Given the description of an element on the screen output the (x, y) to click on. 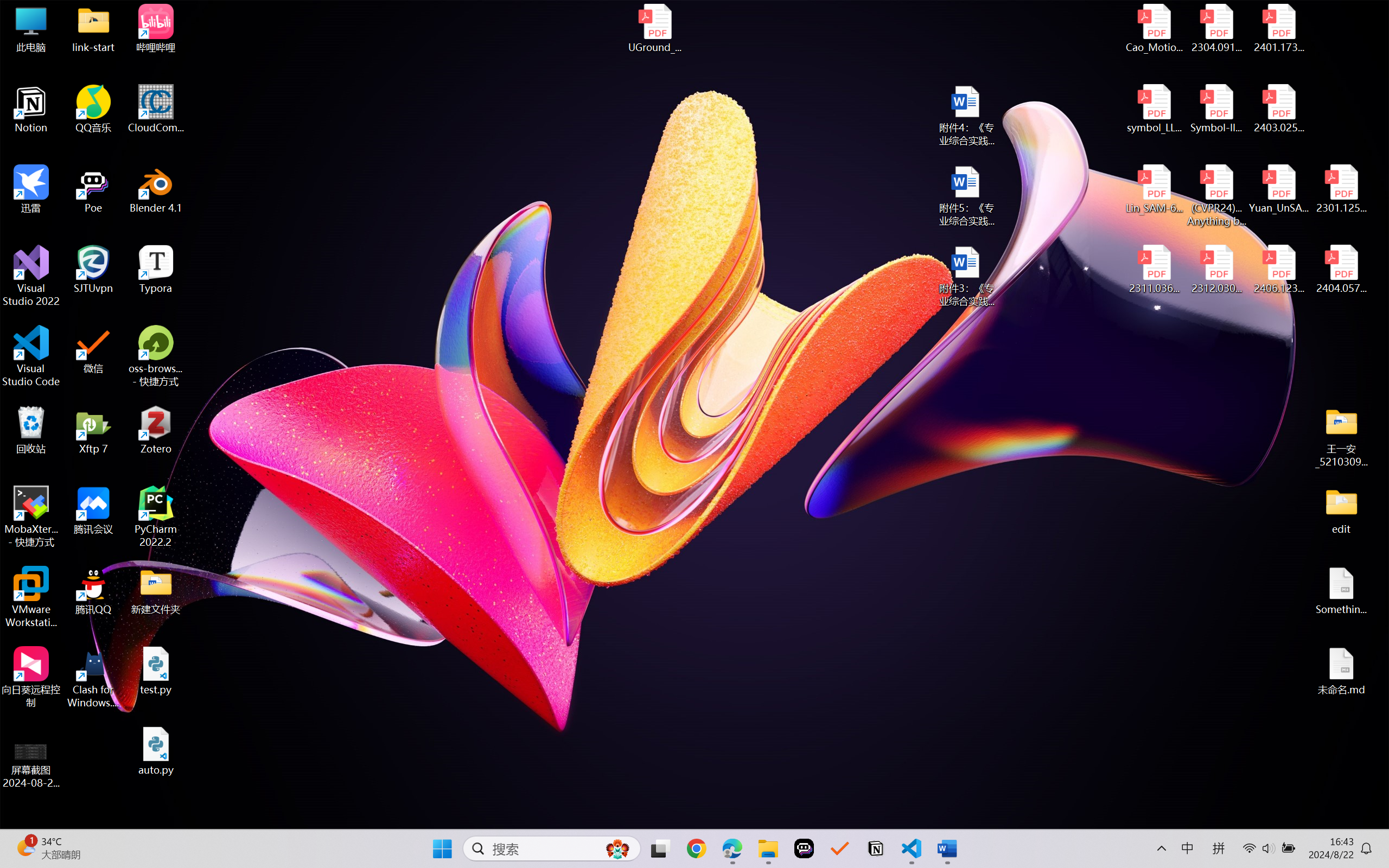
auto.py (156, 751)
2404.05719v1.pdf (1340, 269)
PyCharm 2022.2 (156, 516)
2301.12597v3.pdf (1340, 189)
